Given the description of an element on the screen output the (x, y) to click on. 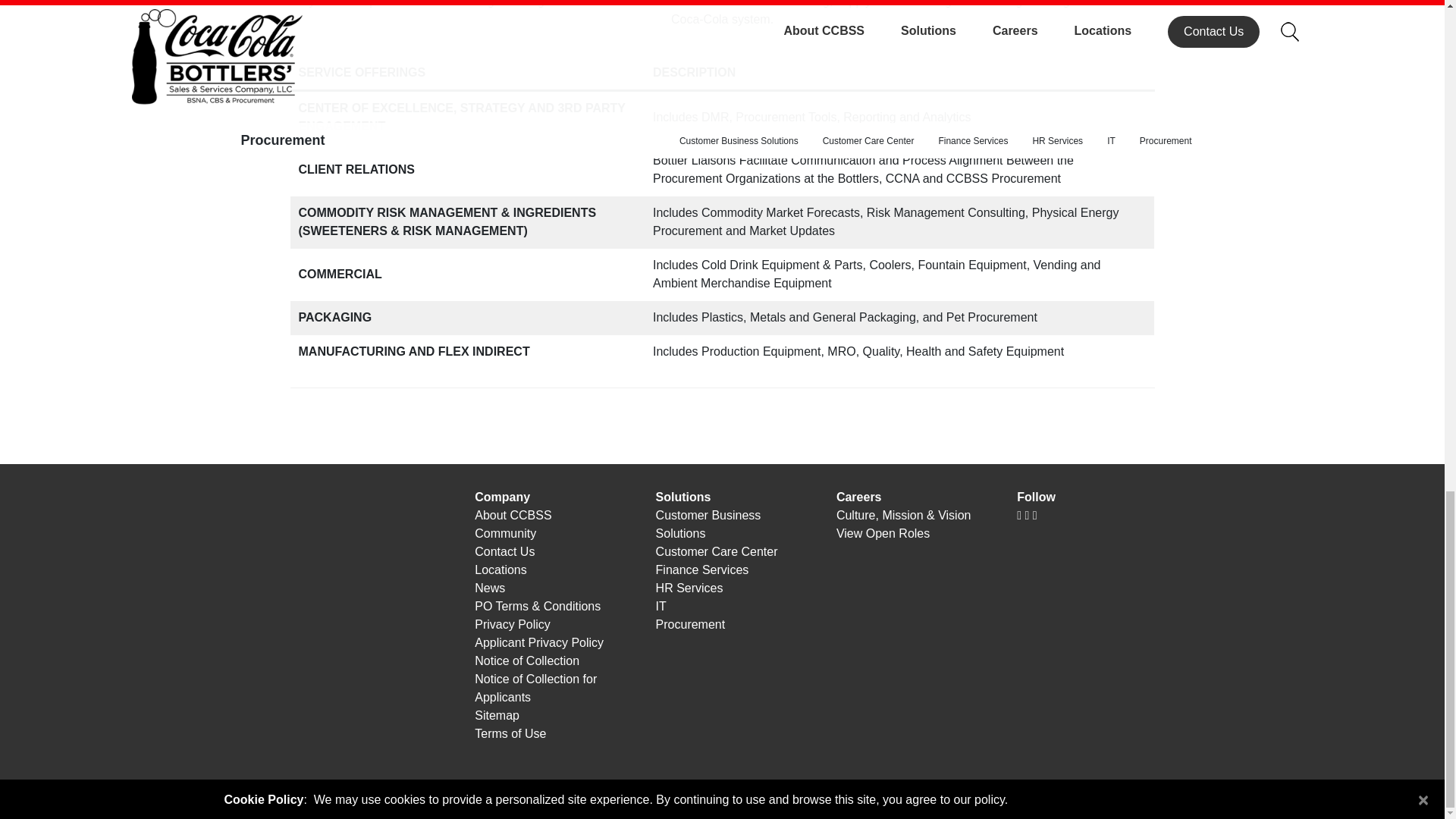
About CCBSS (552, 515)
